Given the description of an element on the screen output the (x, y) to click on. 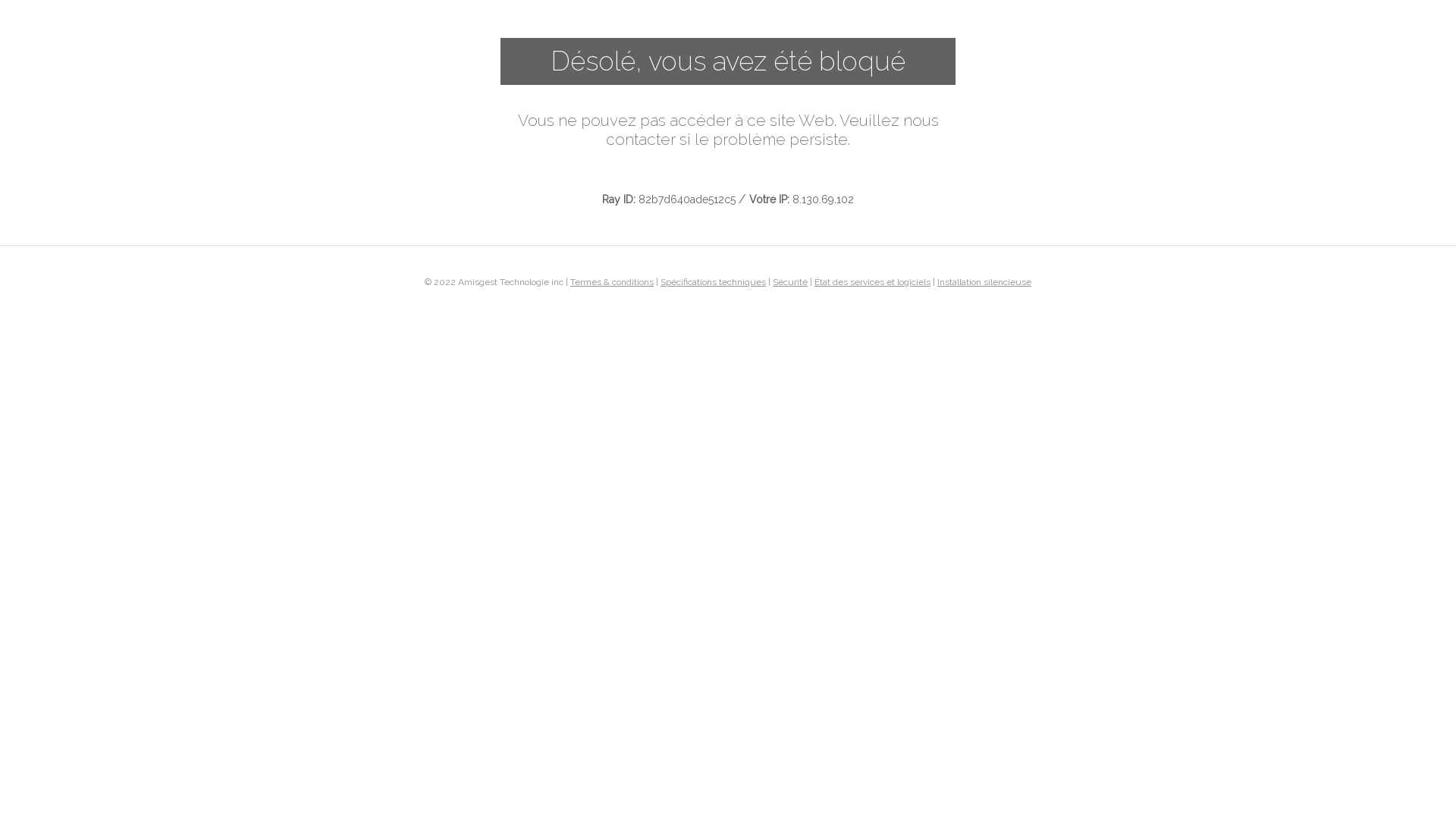
Installation silencieuse Element type: text (984, 281)
Termes & conditions Element type: text (611, 281)
